Given the description of an element on the screen output the (x, y) to click on. 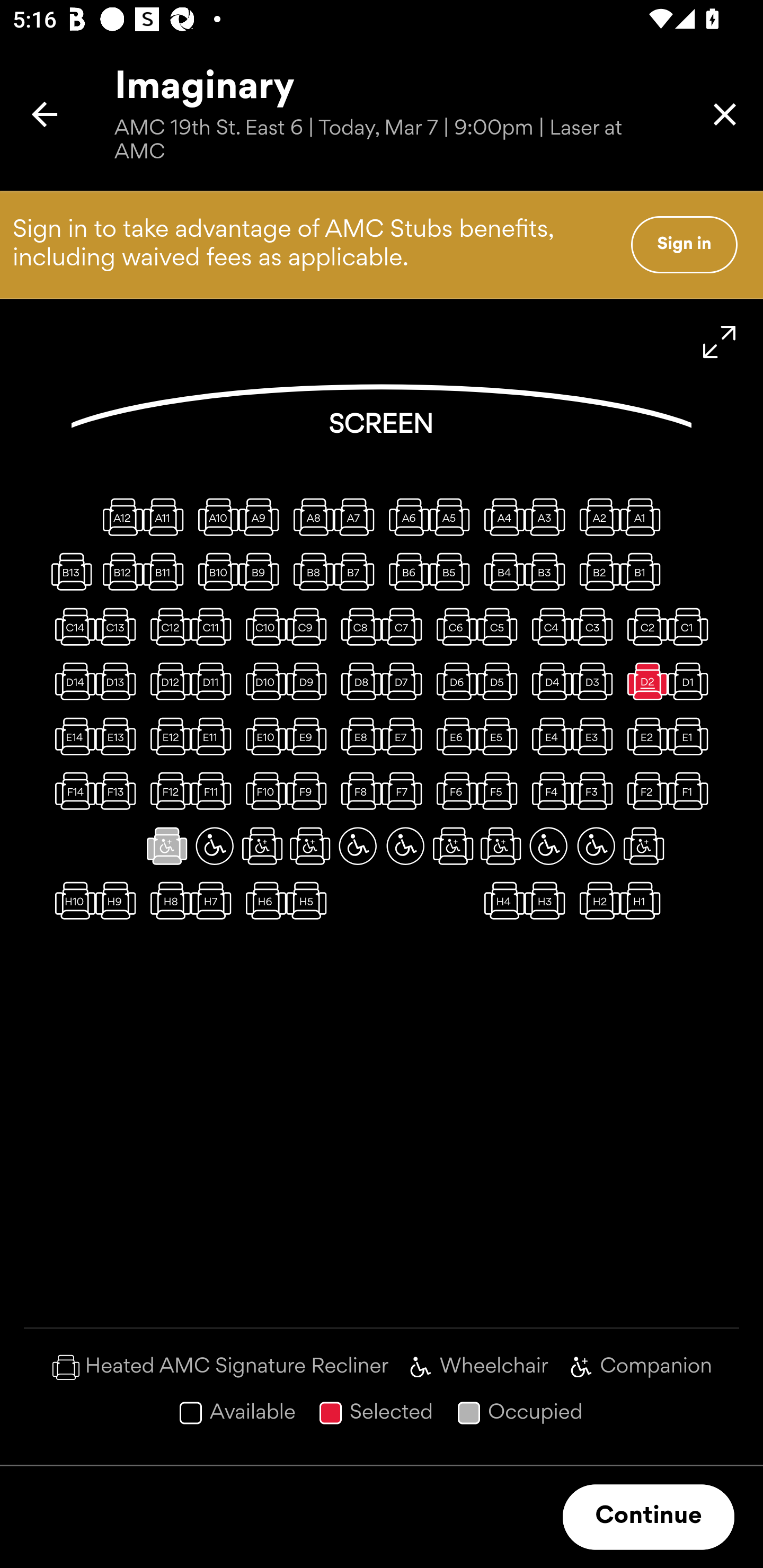
Back (44, 114)
Close (724, 114)
Sign in (684, 244)
Zoom (719, 342)
A12, Regular seat, available (119, 516)
A11, Regular seat, available (166, 516)
A10, Regular seat, available (214, 516)
A9, Regular seat, available (262, 516)
A8, Regular seat, available (310, 516)
A7, Regular seat, available (357, 516)
A6, Regular seat, available (404, 516)
A5, Regular seat, available (452, 516)
A4, Regular seat, available (500, 516)
A3, Regular seat, available (548, 516)
A2, Regular seat, available (595, 516)
A1, Regular seat, available (643, 516)
B13, Regular seat, available (71, 571)
B12, Regular seat, available (119, 571)
B11, Regular seat, available (166, 571)
B10, Regular seat, available (214, 571)
B9, Regular seat, available (262, 571)
B8, Regular seat, available (310, 571)
B7, Regular seat, available (357, 571)
B6, Regular seat, available (404, 571)
B5, Regular seat, available (452, 571)
B4, Regular seat, available (500, 571)
B3, Regular seat, available (548, 571)
B2, Regular seat, available (595, 571)
B1, Regular seat, available (643, 571)
C14, Regular seat, available (71, 625)
C13, Regular seat, available (119, 625)
C12, Regular seat, available (166, 625)
C11, Regular seat, available (214, 625)
C10, Regular seat, available (262, 625)
C9, Regular seat, available (310, 625)
C8, Regular seat, available (357, 625)
C7, Regular seat, available (404, 625)
C6, Regular seat, available (452, 625)
C5, Regular seat, available (500, 625)
C4, Regular seat, available (548, 625)
C3, Regular seat, available (595, 625)
C2, Regular seat, available (643, 625)
C1, Regular seat, available (691, 625)
D14, Regular seat, available (71, 680)
D13, Regular seat, available (119, 680)
D12, Regular seat, available (166, 680)
D11, Regular seat, available (214, 680)
D10, Regular seat, available (262, 680)
D9, Regular seat, available (310, 680)
D8, Regular seat, available (357, 680)
D7, Regular seat, available (404, 680)
D6, Regular seat, available (452, 680)
D5, Regular seat, available (500, 680)
D4, Regular seat, available (548, 680)
D3, Regular seat, available (595, 680)
D2, Regular seat, selected (643, 680)
D1, Regular seat, available (691, 680)
E14, Regular seat, available (71, 735)
E13, Regular seat, available (119, 735)
E12, Regular seat, available (166, 735)
E11, Regular seat, available (214, 735)
E10, Regular seat, available (262, 735)
E9, Regular seat, available (310, 735)
E8, Regular seat, available (357, 735)
E7, Regular seat, available (404, 735)
E6, Regular seat, available (452, 735)
E5, Regular seat, available (500, 735)
E4, Regular seat, available (548, 735)
E3, Regular seat, available (595, 735)
E2, Regular seat, available (643, 735)
E1, Regular seat, available (691, 735)
F14, Regular seat, available (71, 790)
F13, Regular seat, available (119, 790)
F12, Regular seat, available (166, 790)
F11, Regular seat, available (214, 790)
F10, Regular seat, available (262, 790)
F9, Regular seat, available (310, 790)
F8, Regular seat, available (357, 790)
F7, Regular seat, available (404, 790)
F6, Regular seat, available (452, 790)
F5, Regular seat, available (500, 790)
F4, Regular seat, available (548, 790)
F3, Regular seat, available (595, 790)
F2, Regular seat, available (643, 790)
F1, Regular seat, available (691, 790)
G10, Wheelchair space, available (214, 845)
G9, Wheelchair companion seat, available (262, 845)
G8, Wheelchair companion seat, available (310, 845)
G7, Wheelchair space, available (357, 845)
G6, Wheelchair space, available (404, 845)
G5, Wheelchair companion seat, available (452, 845)
G4, Wheelchair companion seat, available (500, 845)
G3, Wheelchair space, available (548, 845)
G2, Wheelchair space, available (595, 845)
G1, Wheelchair companion seat, available (643, 845)
H10, Regular seat, available (71, 900)
H9, Regular seat, available (119, 900)
H8, Regular seat, available (166, 900)
H7, Regular seat, available (214, 900)
H6, Regular seat, available (262, 900)
H5, Regular seat, available (310, 900)
H4, Regular seat, available (500, 900)
H3, Regular seat, available (548, 900)
H2, Regular seat, available (595, 900)
H1, Regular seat, available (643, 900)
Continue (648, 1516)
